Given the description of an element on the screen output the (x, y) to click on. 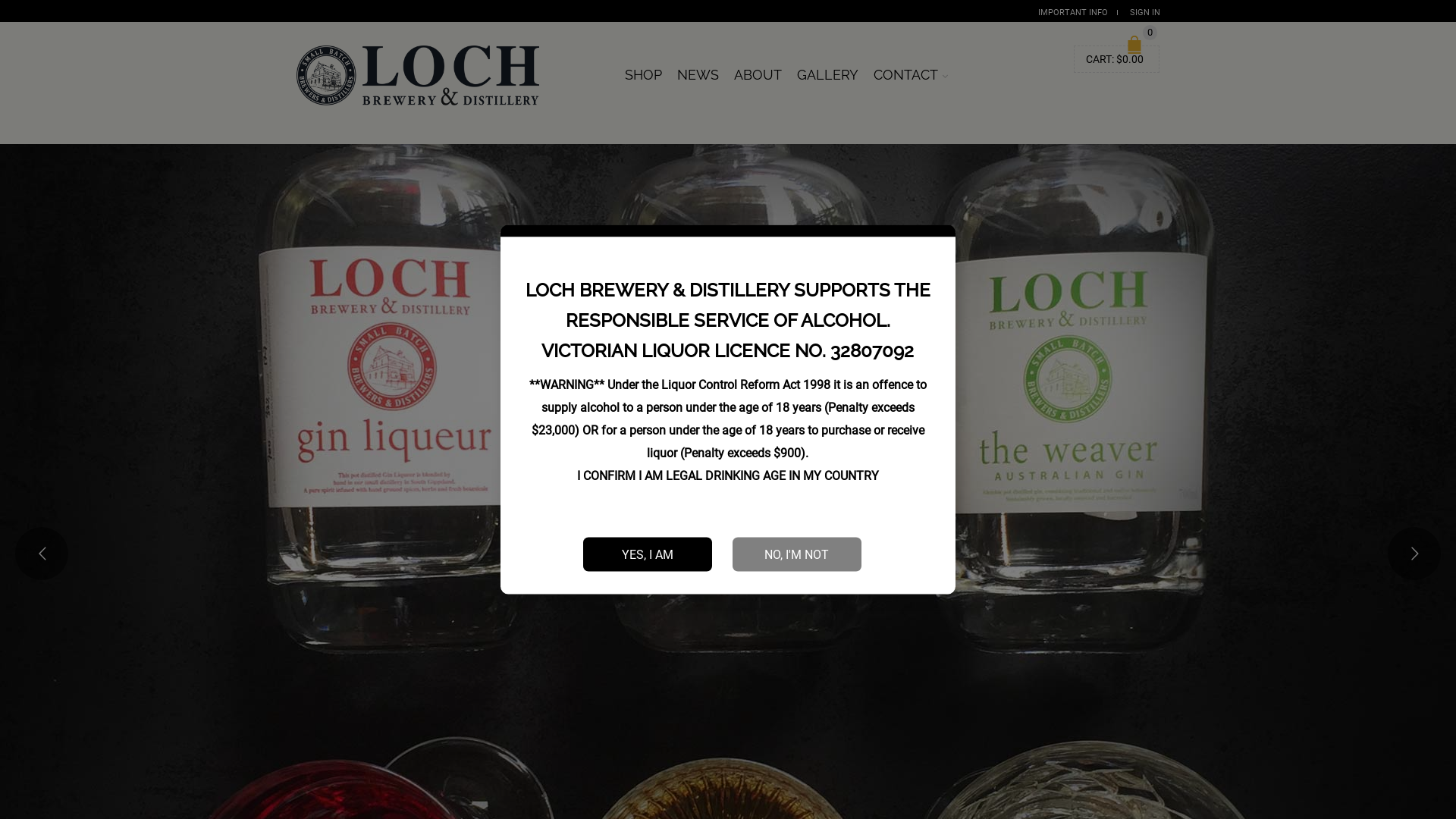
GALLERY Element type: text (827, 74)
IMPORTANT INFO Element type: text (1072, 12)
CONTACT Element type: text (910, 74)
NEWS Element type: text (697, 74)
NO, I'M NOT Element type: text (796, 553)
YES, I AM Element type: text (647, 553)
NO, I'M NOT Element type: text (796, 553)
SHOP Element type: text (643, 74)
Login Element type: text (1127, 220)
BOOKINGS Element type: text (962, 67)
SIGN IN Element type: text (1144, 12)
ABOUT Element type: text (757, 74)
